Given the description of an element on the screen output the (x, y) to click on. 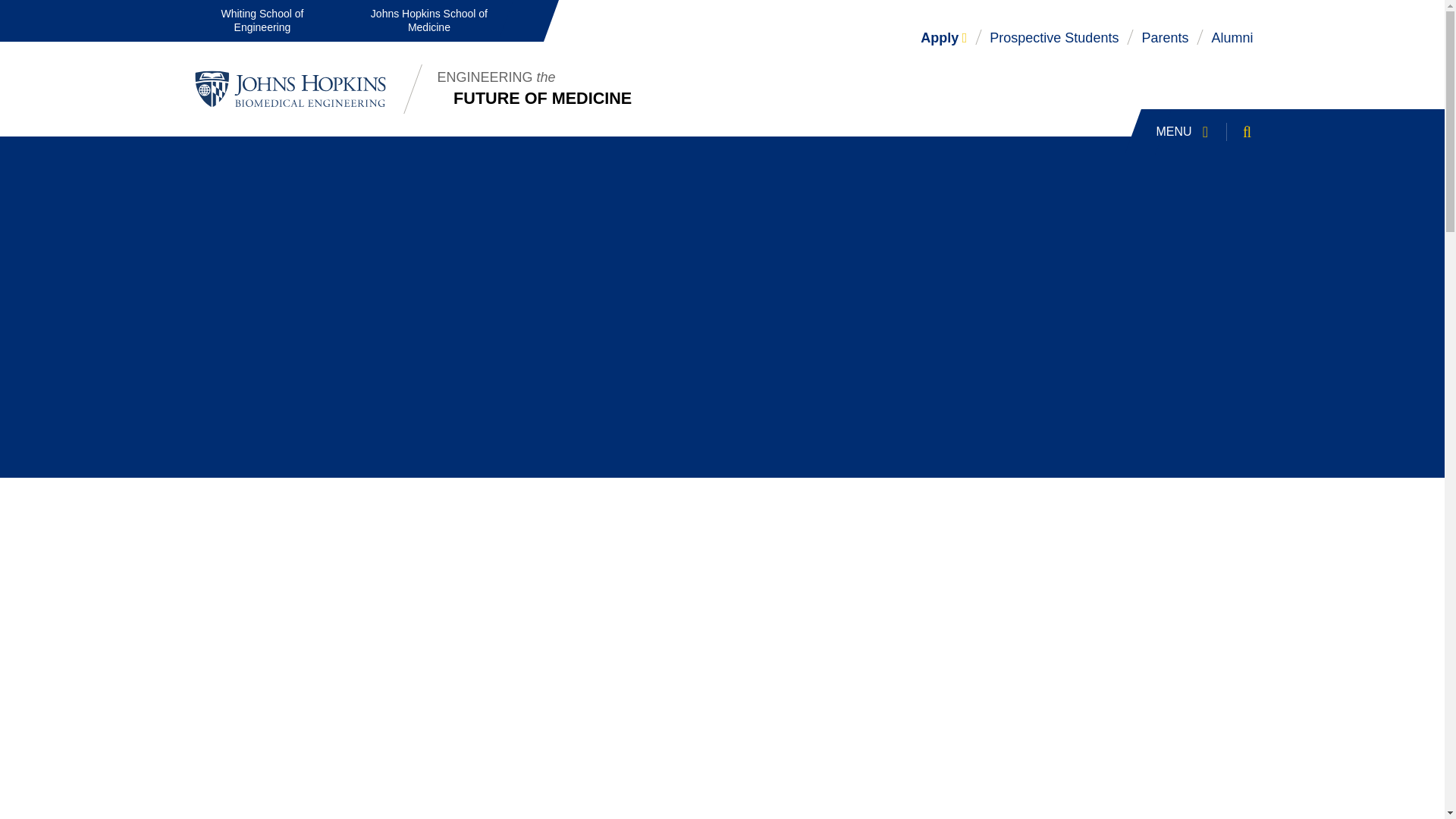
Alumni (1231, 37)
Johns Hopkins School of Medicine (428, 20)
Apply (943, 37)
Skip to Content (1209, 131)
Parents (15, 9)
Whiting School of Engineering (1164, 37)
Prospective Students (261, 20)
Johns Hopkins Biomedical Engineering (1054, 37)
